Given the description of an element on the screen output the (x, y) to click on. 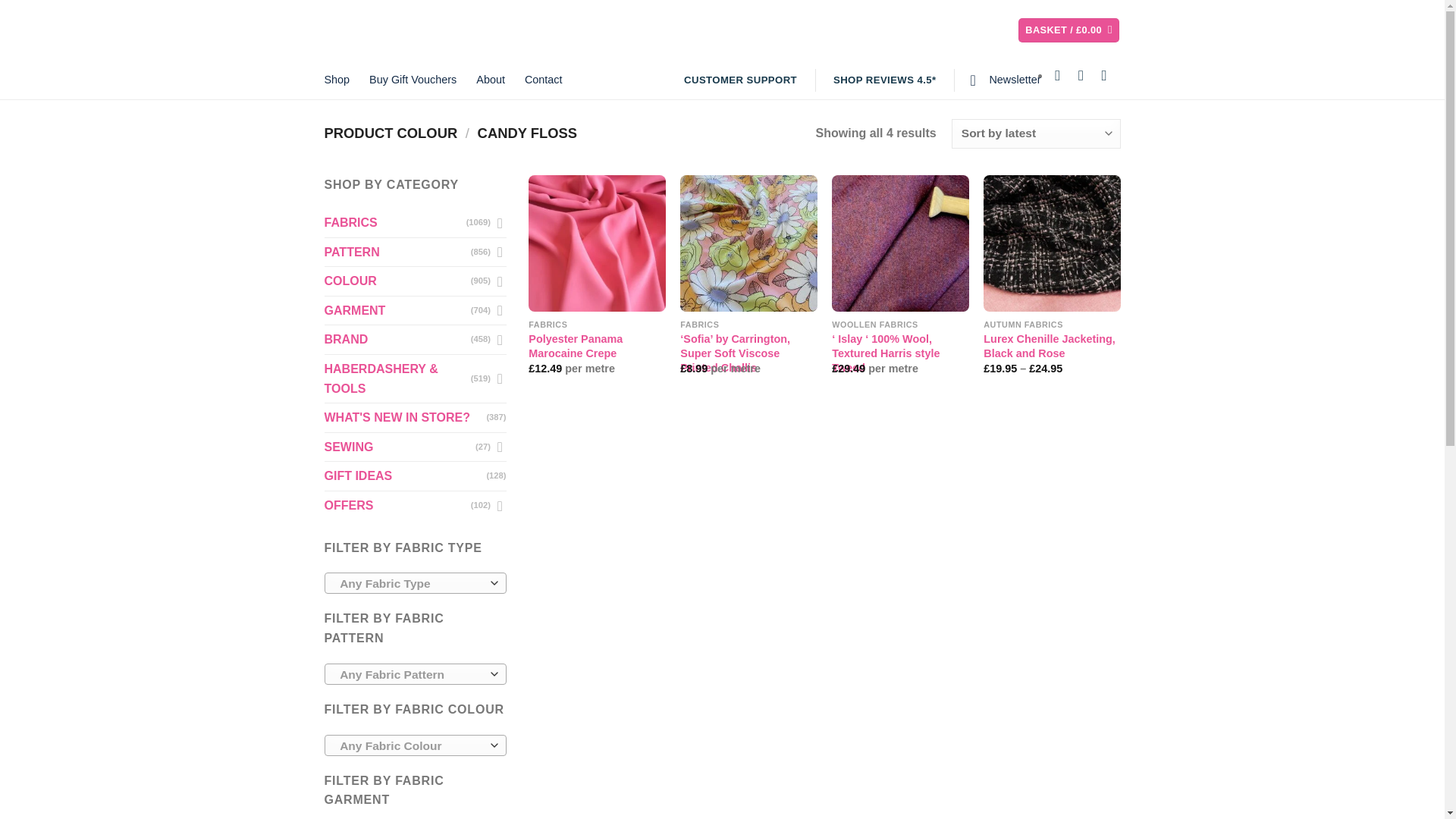
Search (776, 30)
Contact (543, 79)
Newsletter (1005, 79)
FABRICS (394, 222)
WISHLIST (875, 29)
Follow on Facebook (1061, 75)
Follow on Twitter (1085, 75)
Send us an email (1109, 75)
Wishlist (875, 29)
Buy Gift Vouchers (413, 79)
Basket (1068, 30)
CUSTOMER SUPPORT (740, 80)
CW Fabrics - Fabrics Mail Order Since 1984 (437, 29)
Login (961, 30)
Sign up for Newsletter (1005, 79)
